Given the description of an element on the screen output the (x, y) to click on. 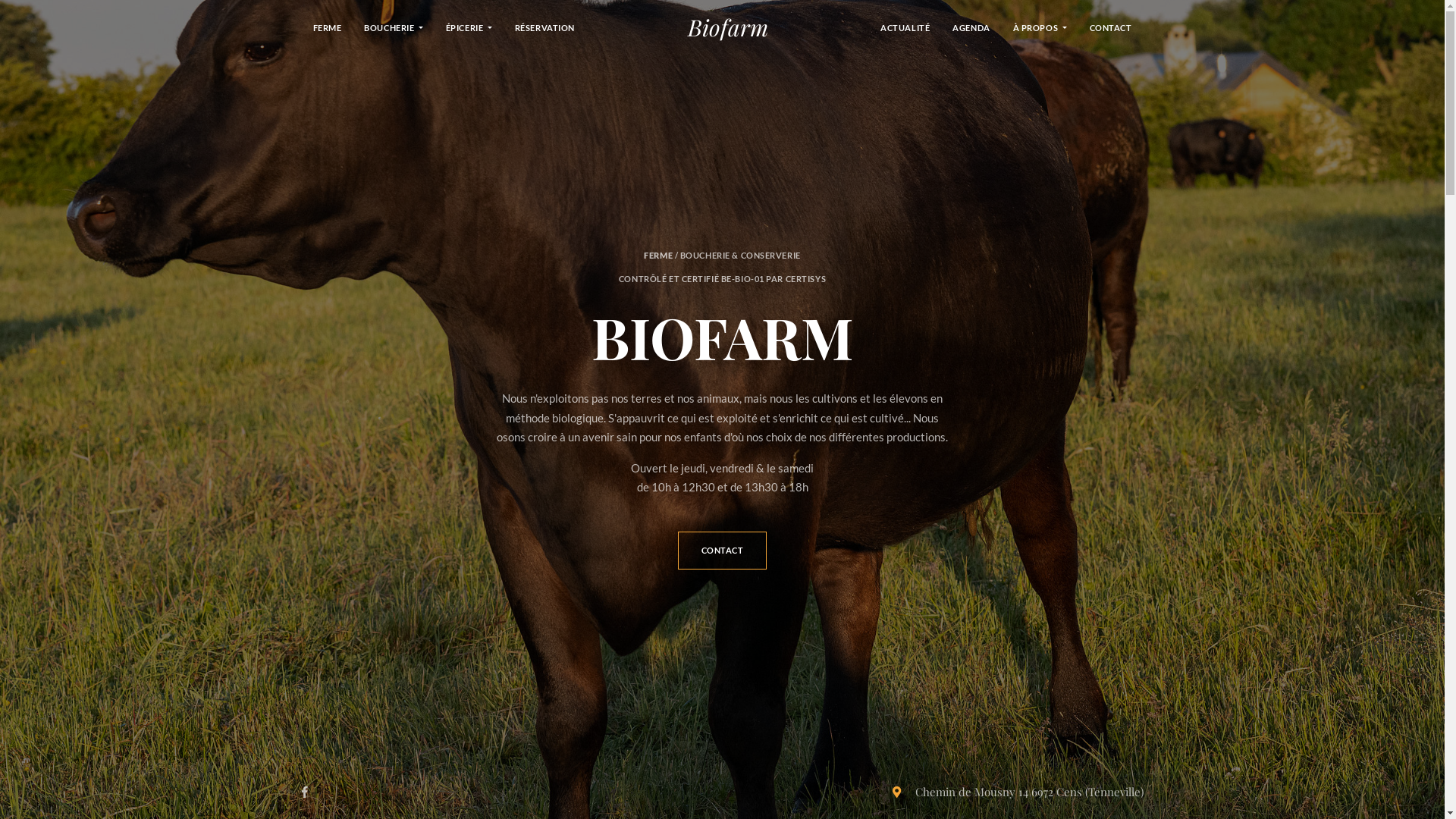
BOUCHERIE Element type: text (392, 27)
CONTACT Element type: text (722, 549)
CONTACT Element type: text (1110, 27)
AGENDA Element type: text (971, 27)
Biofarm Element type: text (727, 27)
FERME Element type: text (327, 27)
